Given the description of an element on the screen output the (x, y) to click on. 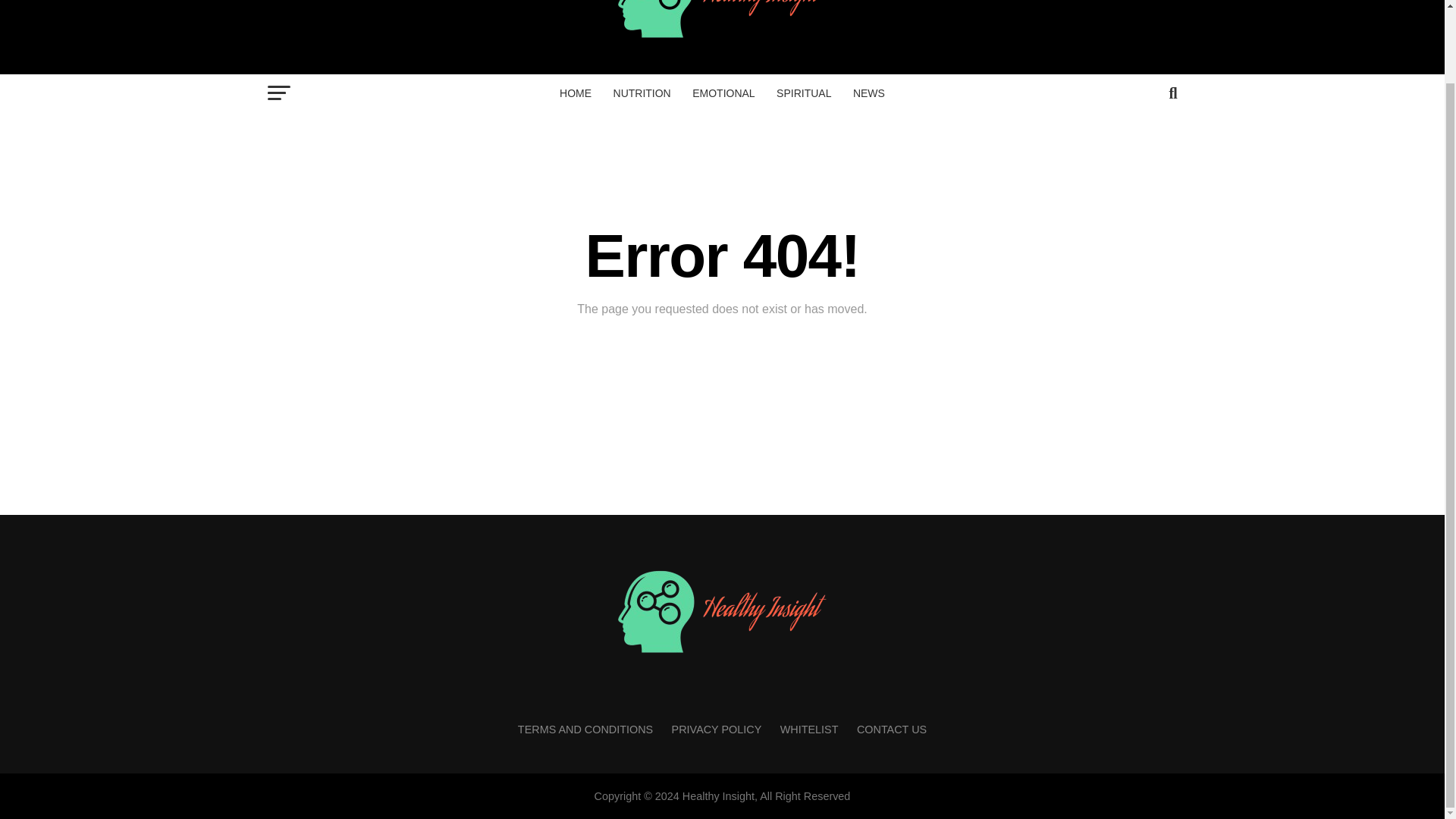
HOME (574, 93)
EMOTIONAL (722, 93)
TERMS AND CONDITIONS (585, 729)
NUTRITION (641, 93)
SPIRITUAL (803, 93)
CONTACT US (891, 729)
WHITELIST (809, 729)
PRIVACY POLICY (716, 729)
NEWS (868, 93)
